Given the description of an element on the screen output the (x, y) to click on. 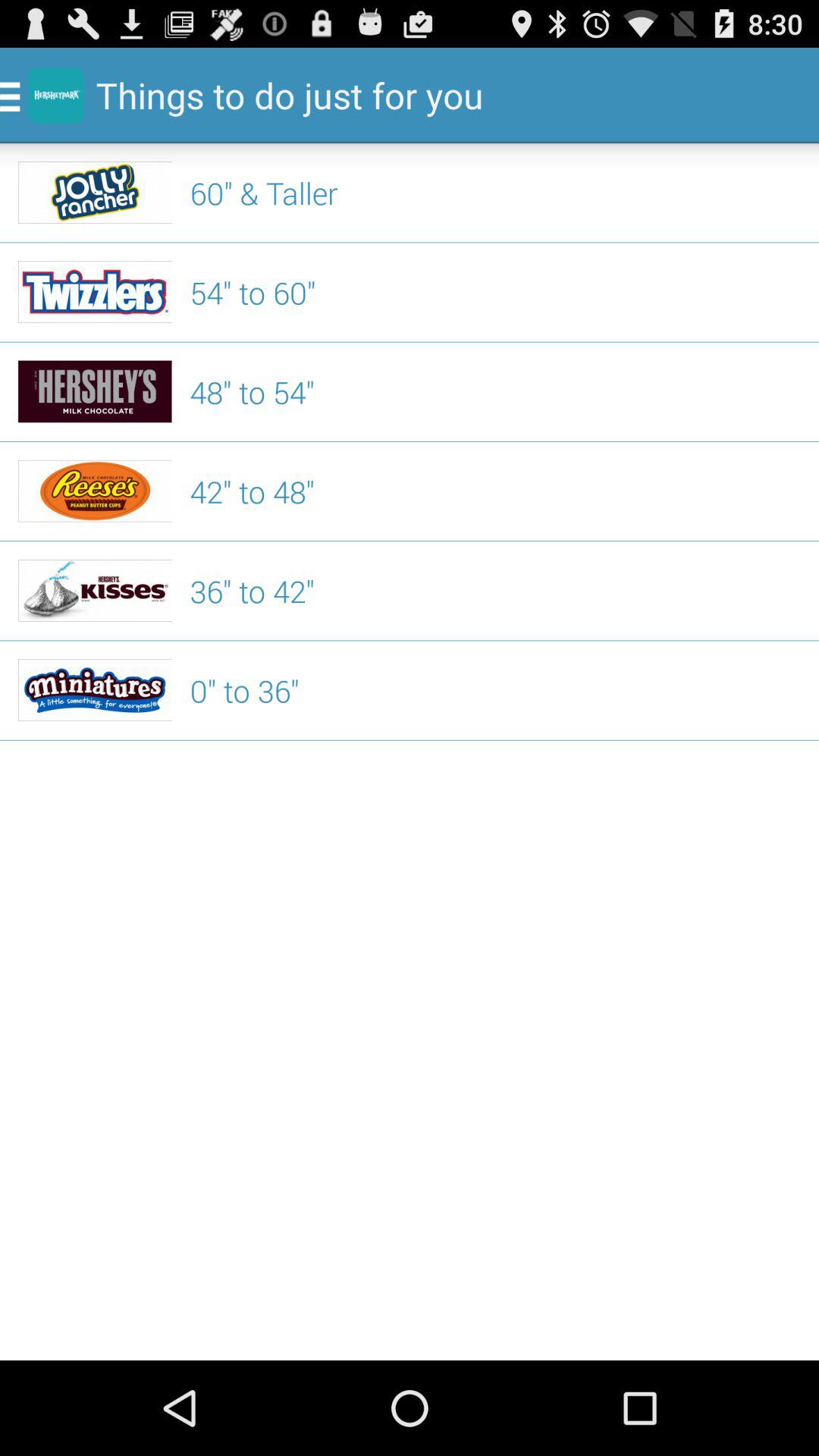
swipe to 60" & taller (494, 192)
